Given the description of an element on the screen output the (x, y) to click on. 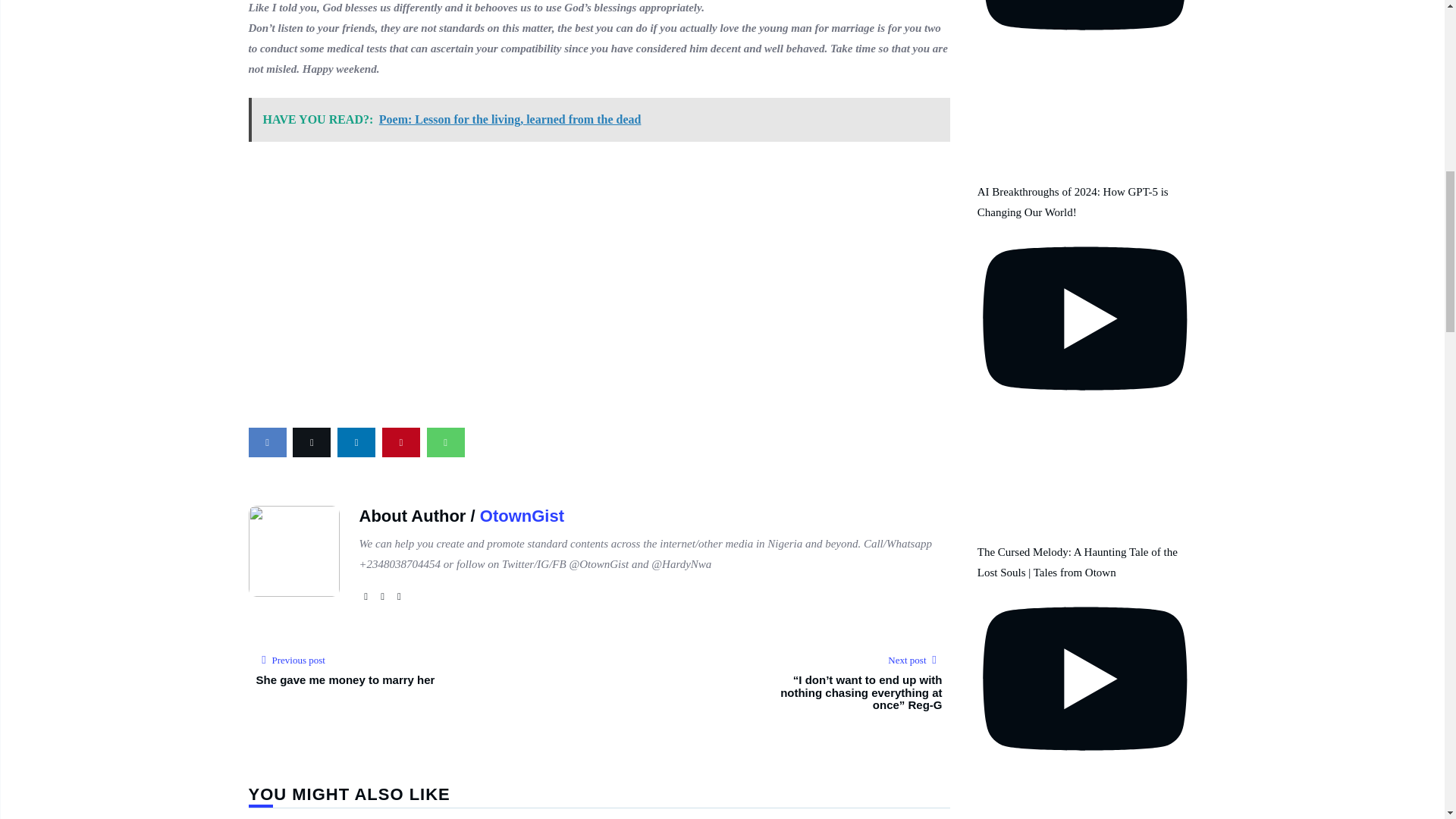
Posts by OtownGist (522, 515)
YouTube video player (460, 272)
facebook (267, 442)
